Given the description of an element on the screen output the (x, y) to click on. 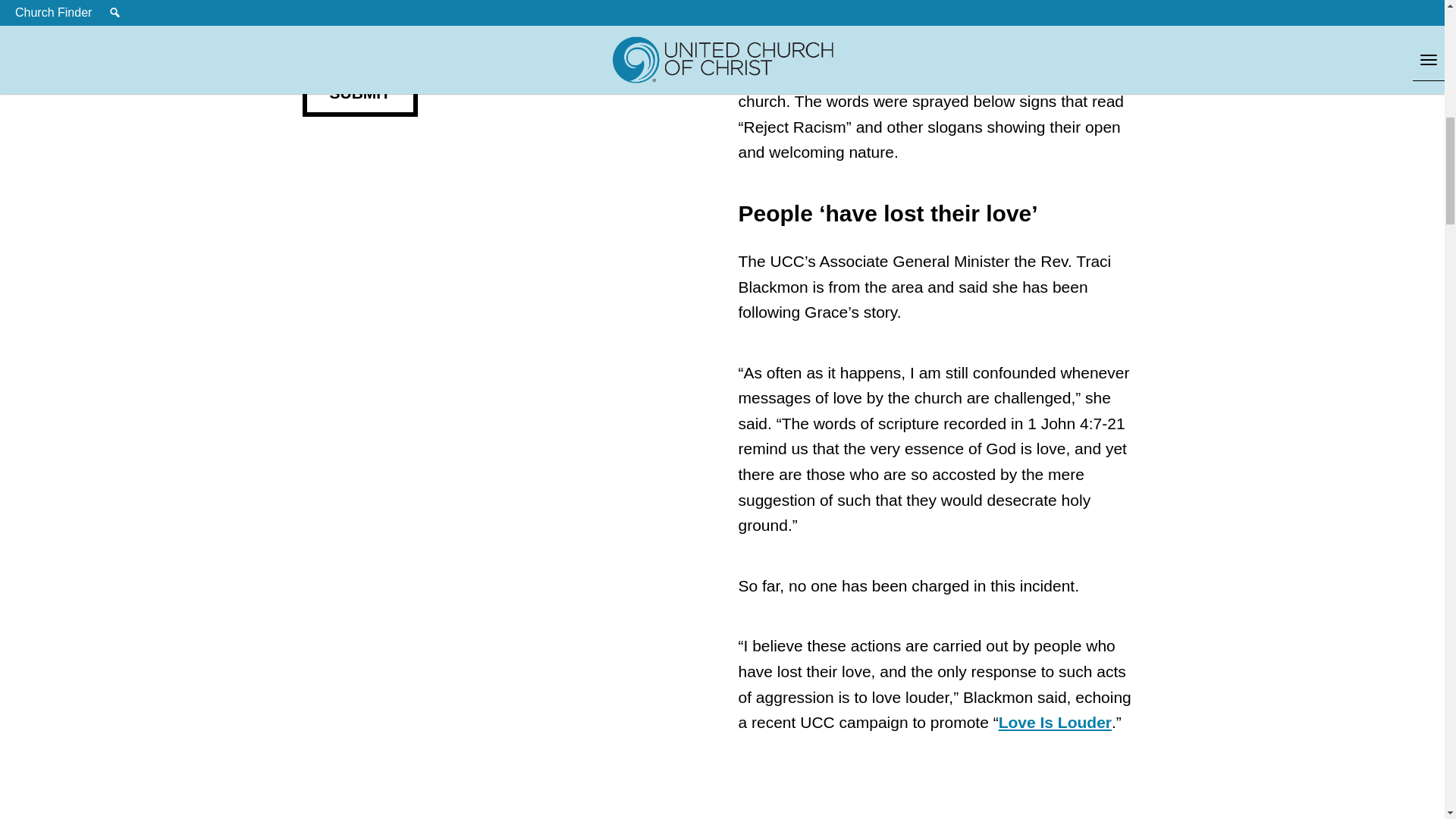
498 (306, 30)
